Given the description of an element on the screen output the (x, y) to click on. 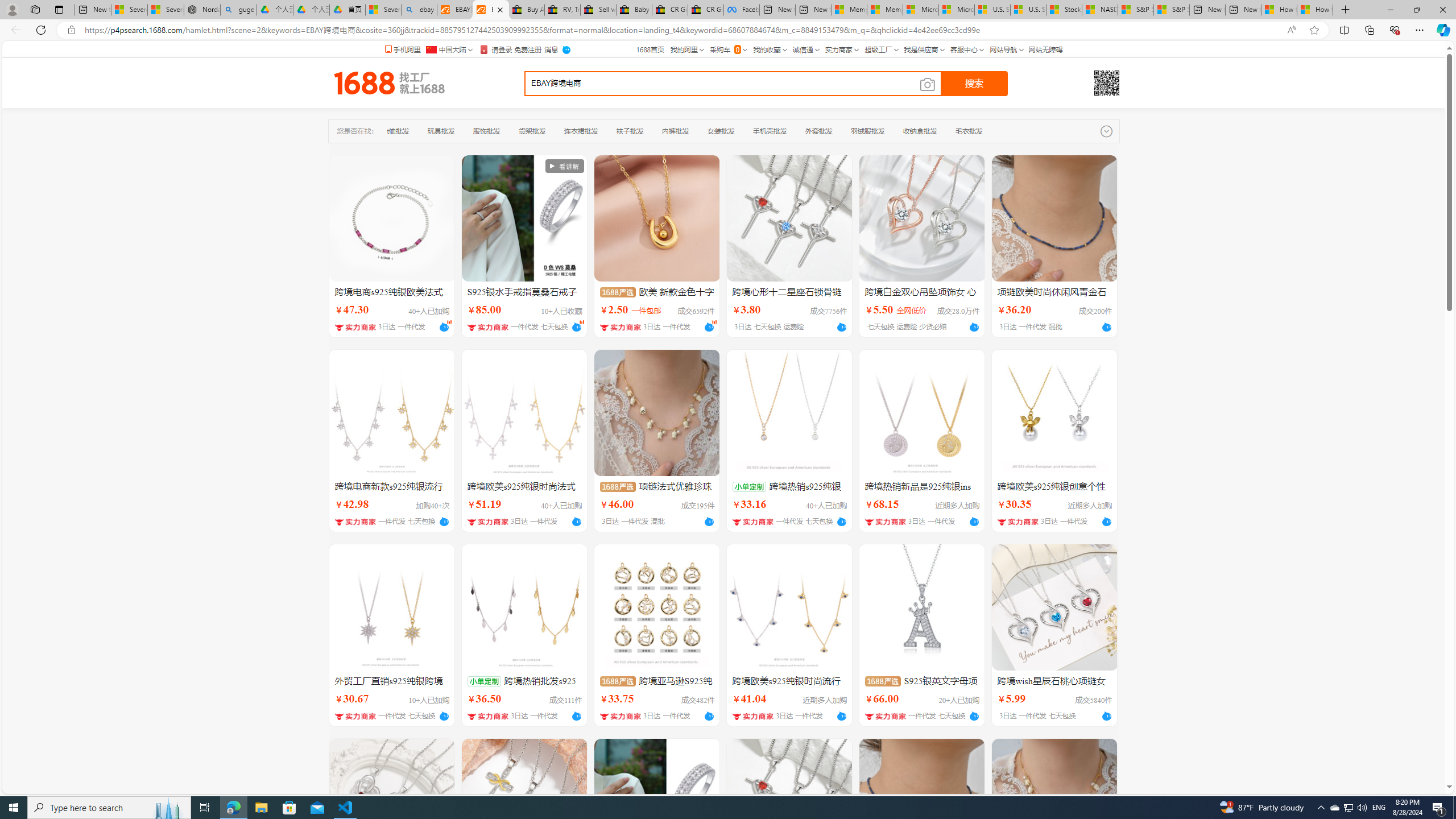
Facebook (741, 9)
Class: on-line (713, 321)
S&P 500, Nasdaq end lower, weighed by Nvidia dip | Watch (1170, 9)
